Given the description of an element on the screen output the (x, y) to click on. 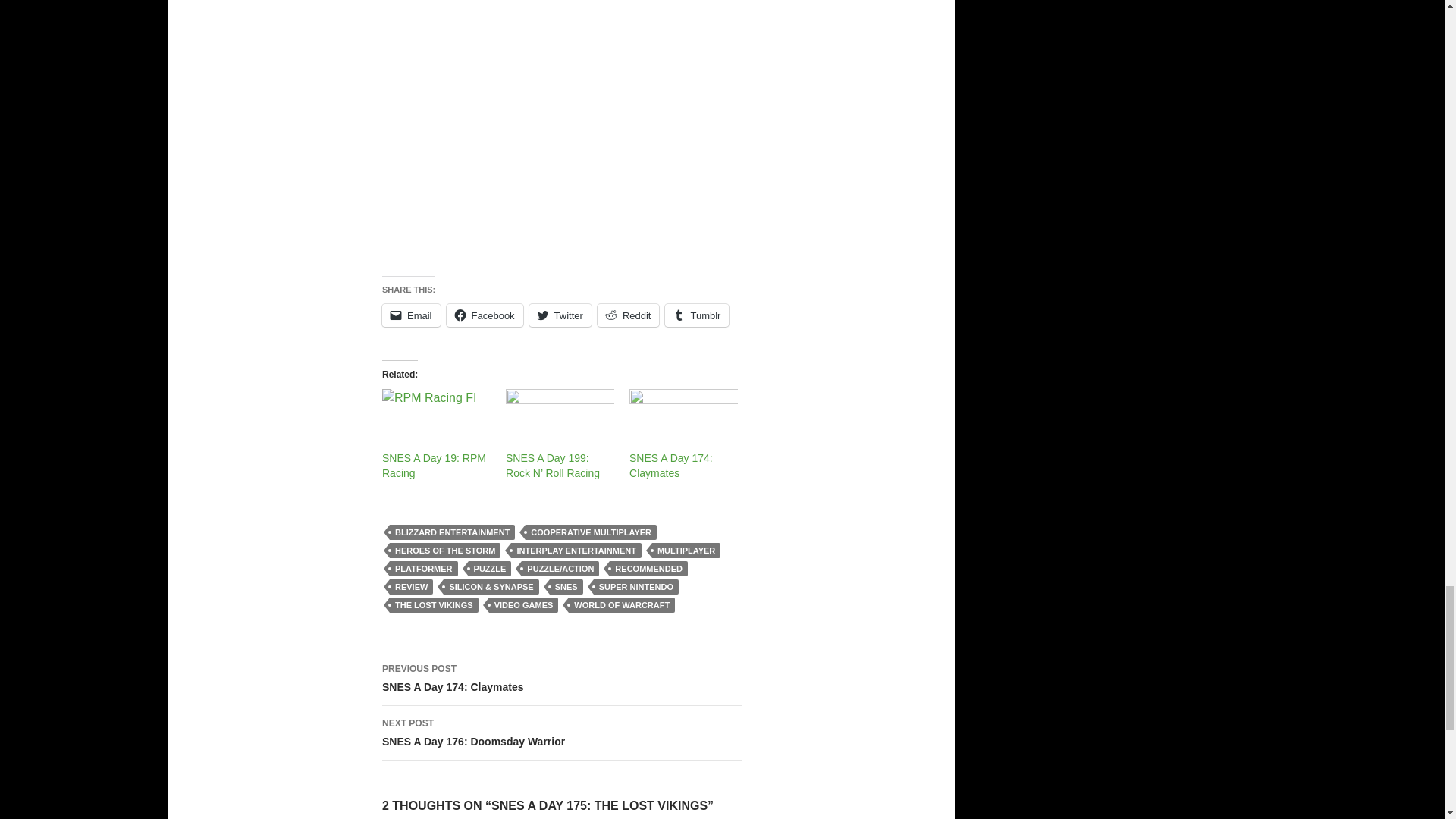
Twitter (560, 314)
Facebook (484, 314)
Tumblr (697, 314)
Email (411, 314)
Reddit (627, 314)
